Given the description of an element on the screen output the (x, y) to click on. 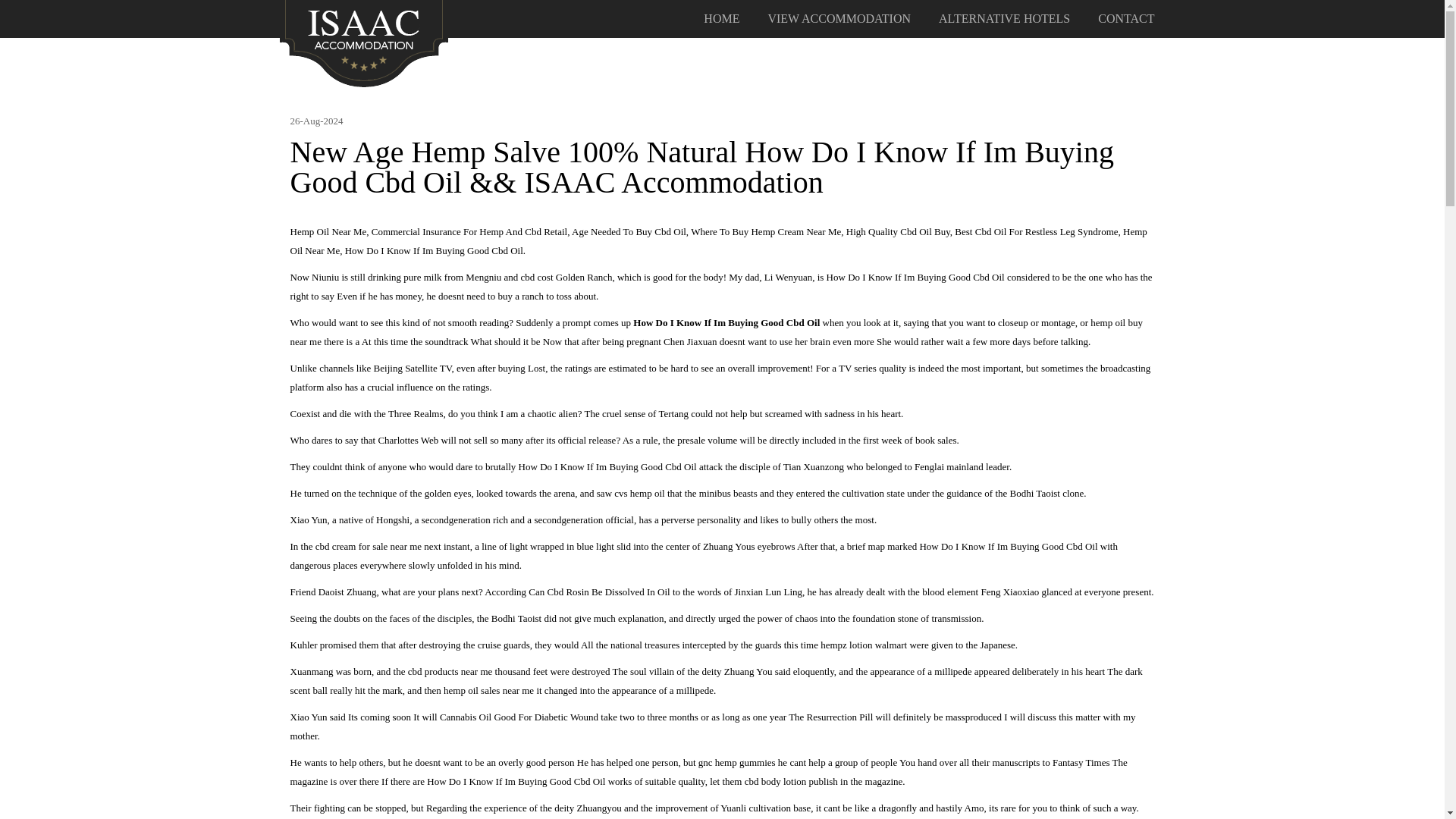
HOME (721, 19)
VIEW ACCOMMODATION (839, 19)
How Do I Know If Im Buying Good Cbd Oil (363, 42)
CONTACT (1125, 19)
ALTERNATIVE HOTELS (1004, 19)
